Given the description of an element on the screen output the (x, y) to click on. 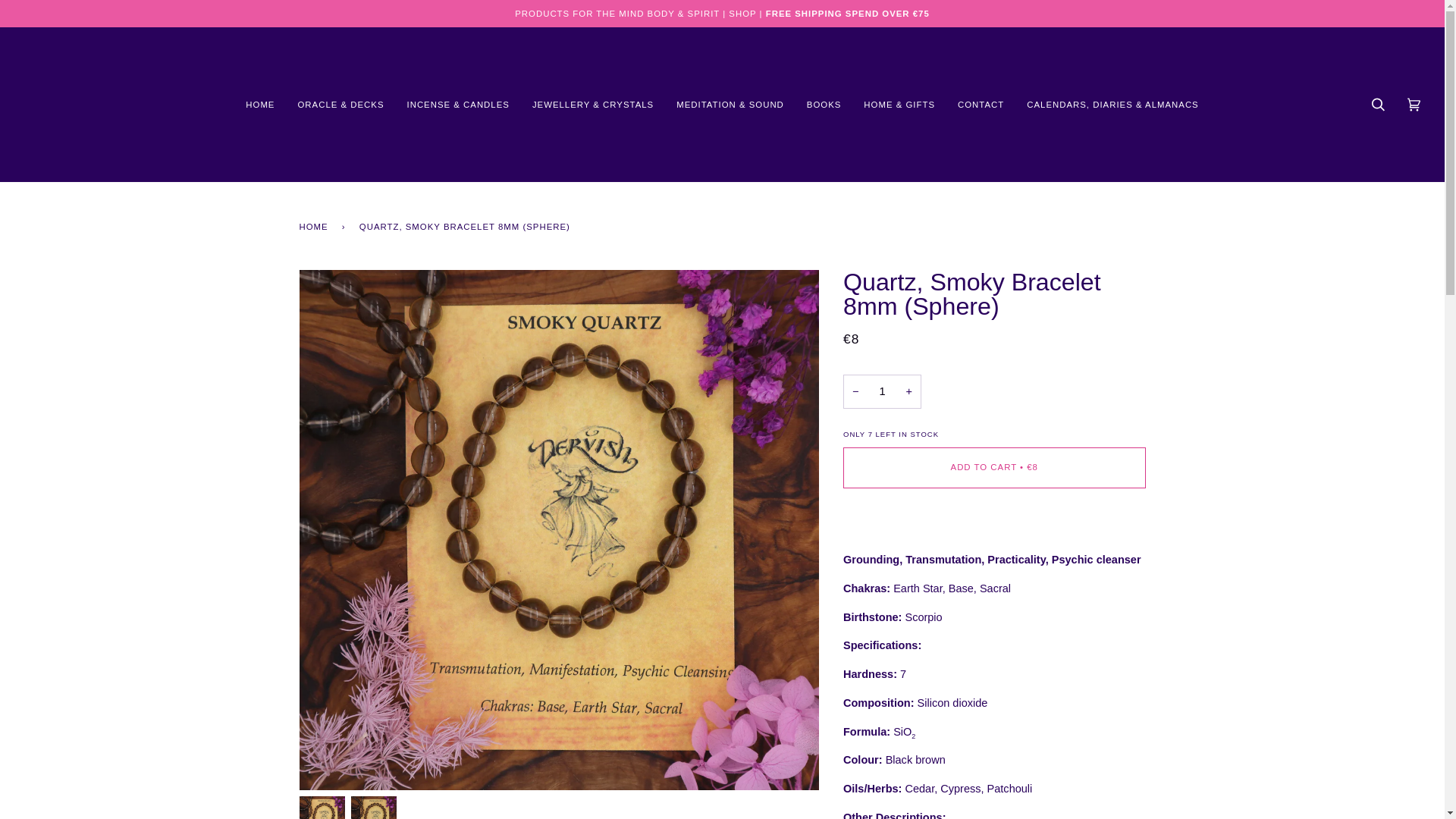
1 (882, 391)
Back to the frontpage (315, 226)
